Given the description of an element on the screen output the (x, y) to click on. 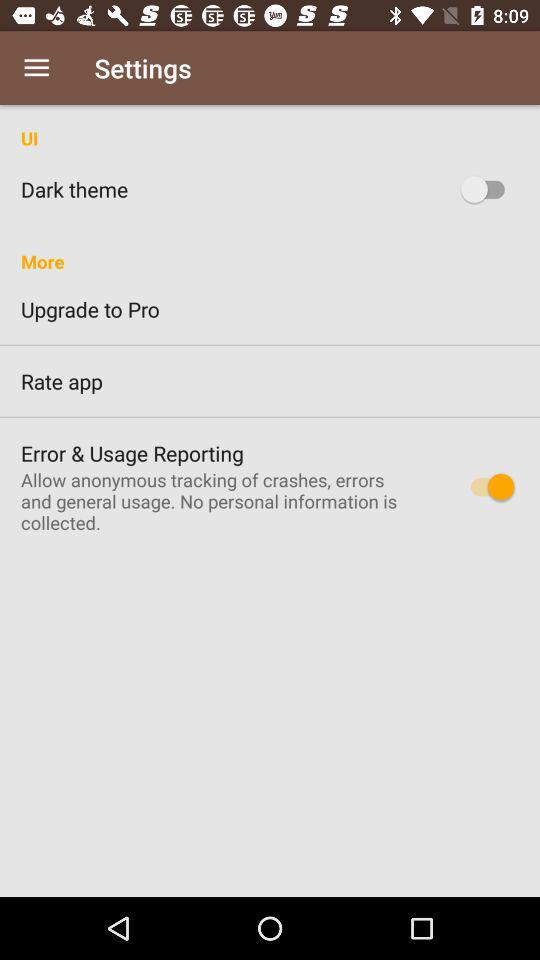
jump to the upgrade to pro (270, 309)
